Given the description of an element on the screen output the (x, y) to click on. 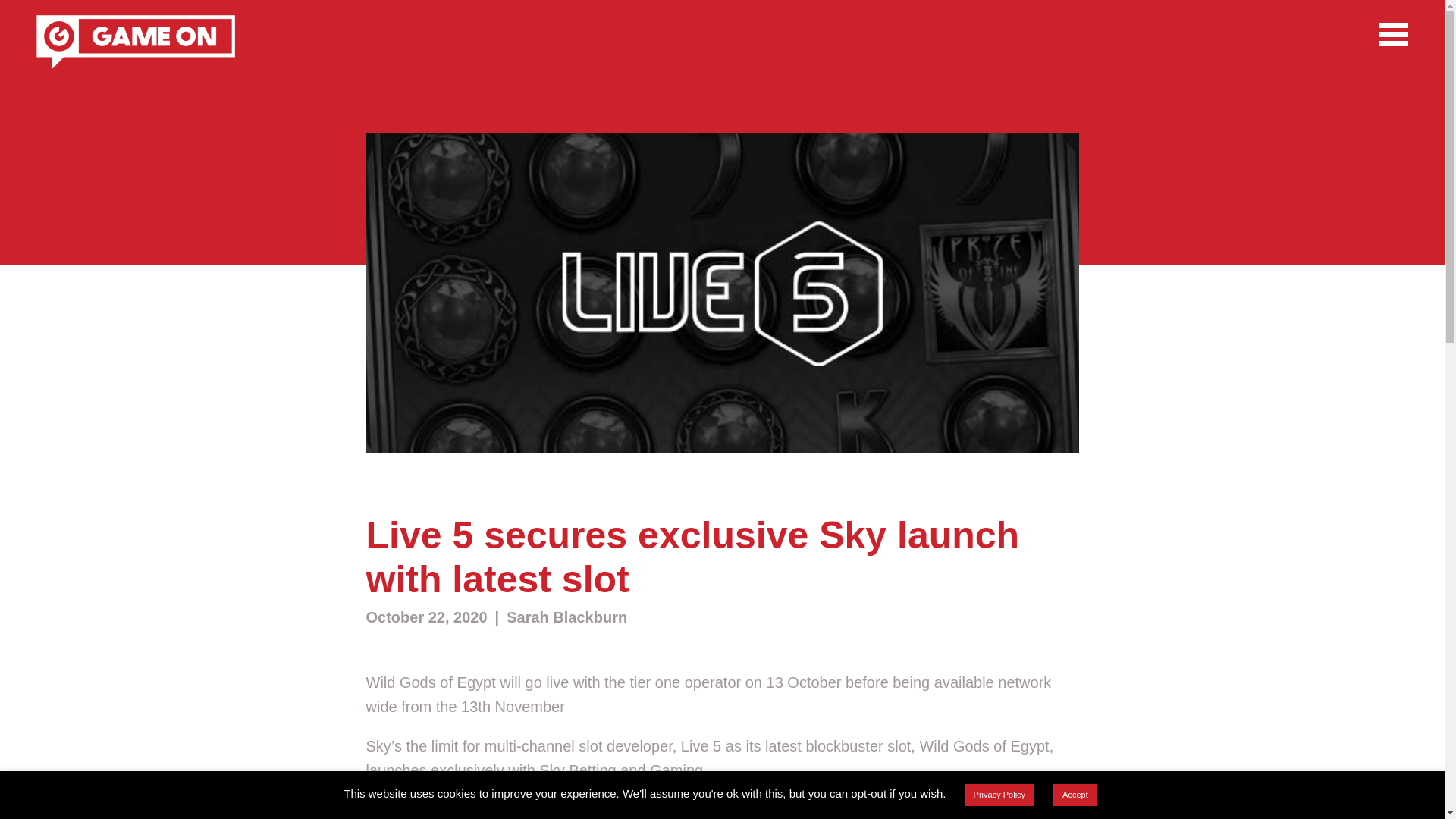
Privacy Policy (998, 794)
Accept (1074, 794)
